Given the description of an element on the screen output the (x, y) to click on. 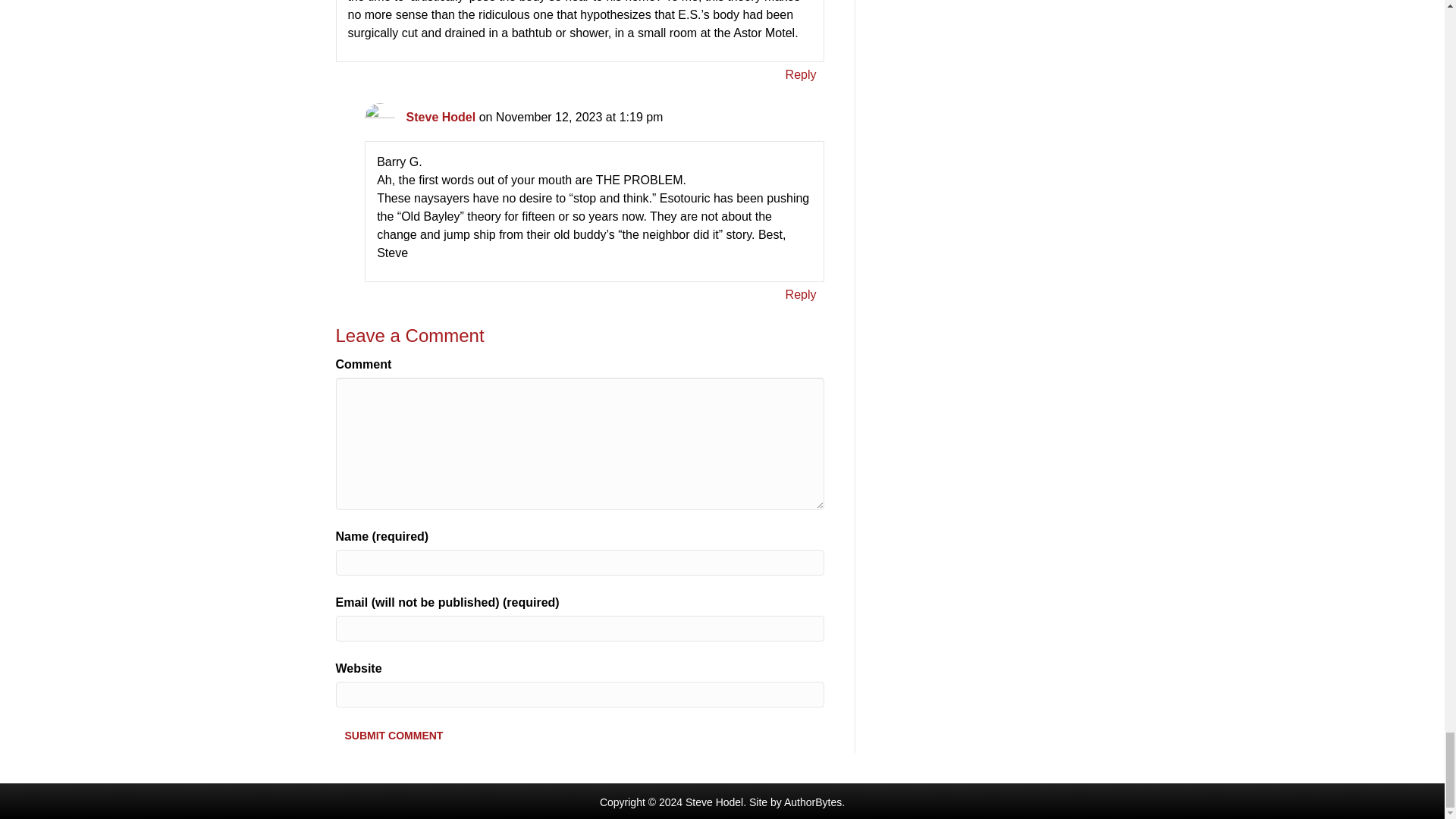
Submit Comment (392, 735)
